Given the description of an element on the screen output the (x, y) to click on. 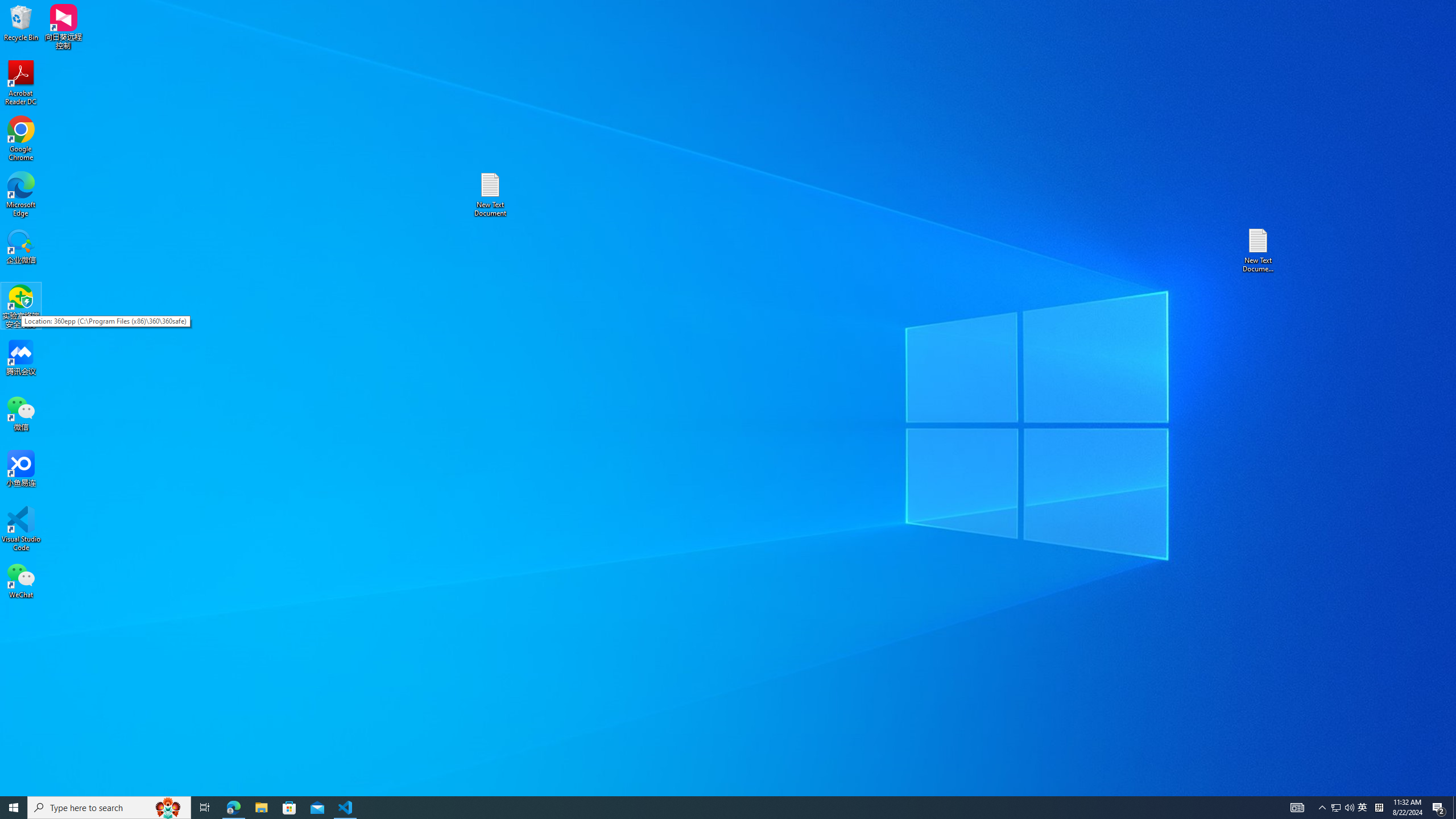
New Text Document (2) (1258, 250)
Notification Chevron (1322, 807)
